Given the description of an element on the screen output the (x, y) to click on. 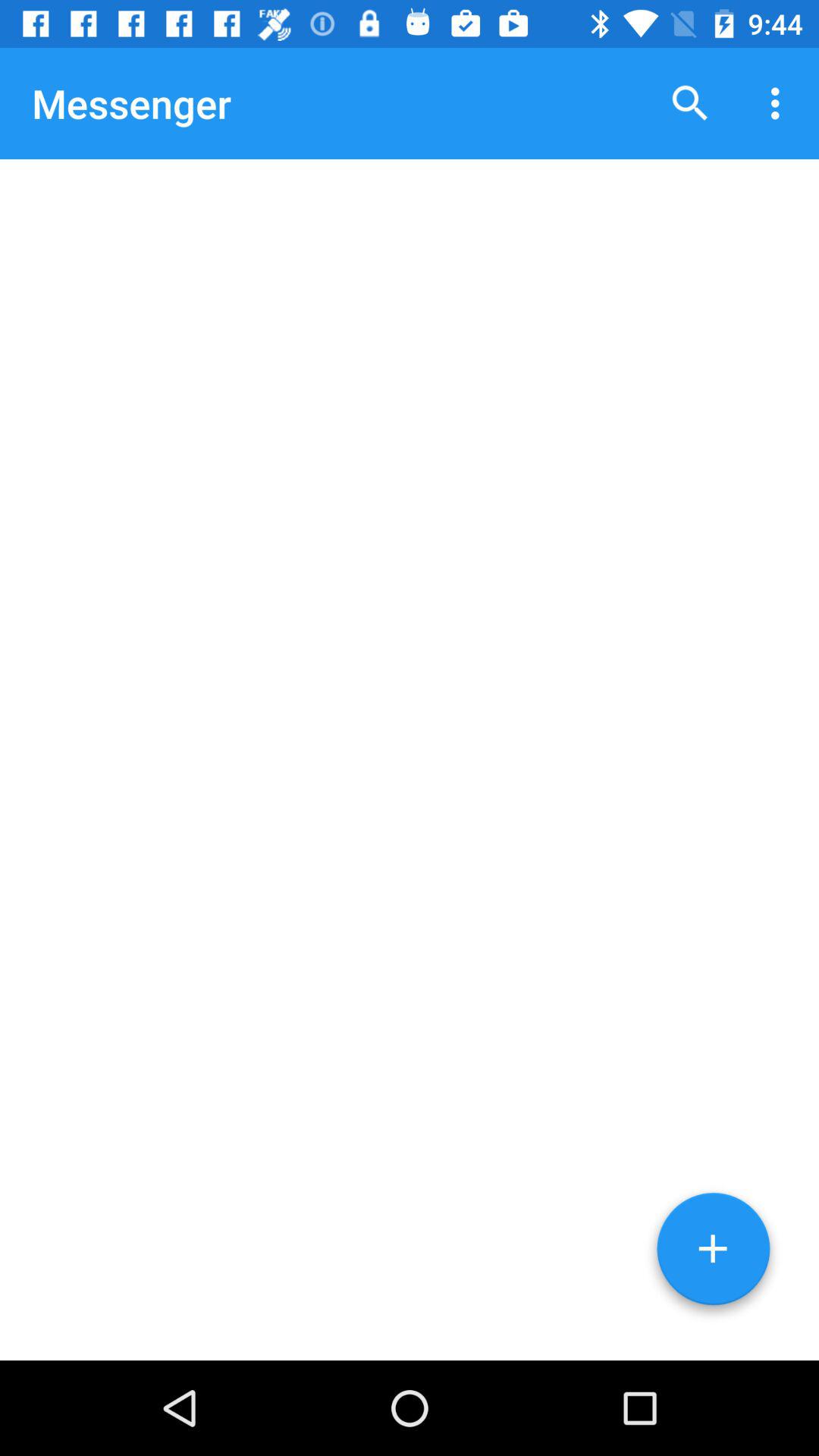
create new message (713, 1254)
